Given the description of an element on the screen output the (x, y) to click on. 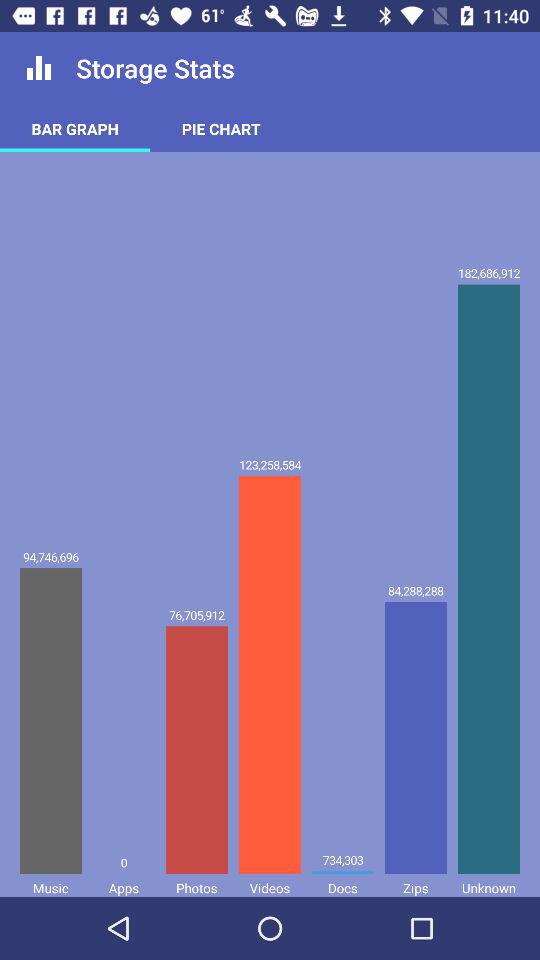
tap the item next to bar graph (221, 128)
